Given the description of an element on the screen output the (x, y) to click on. 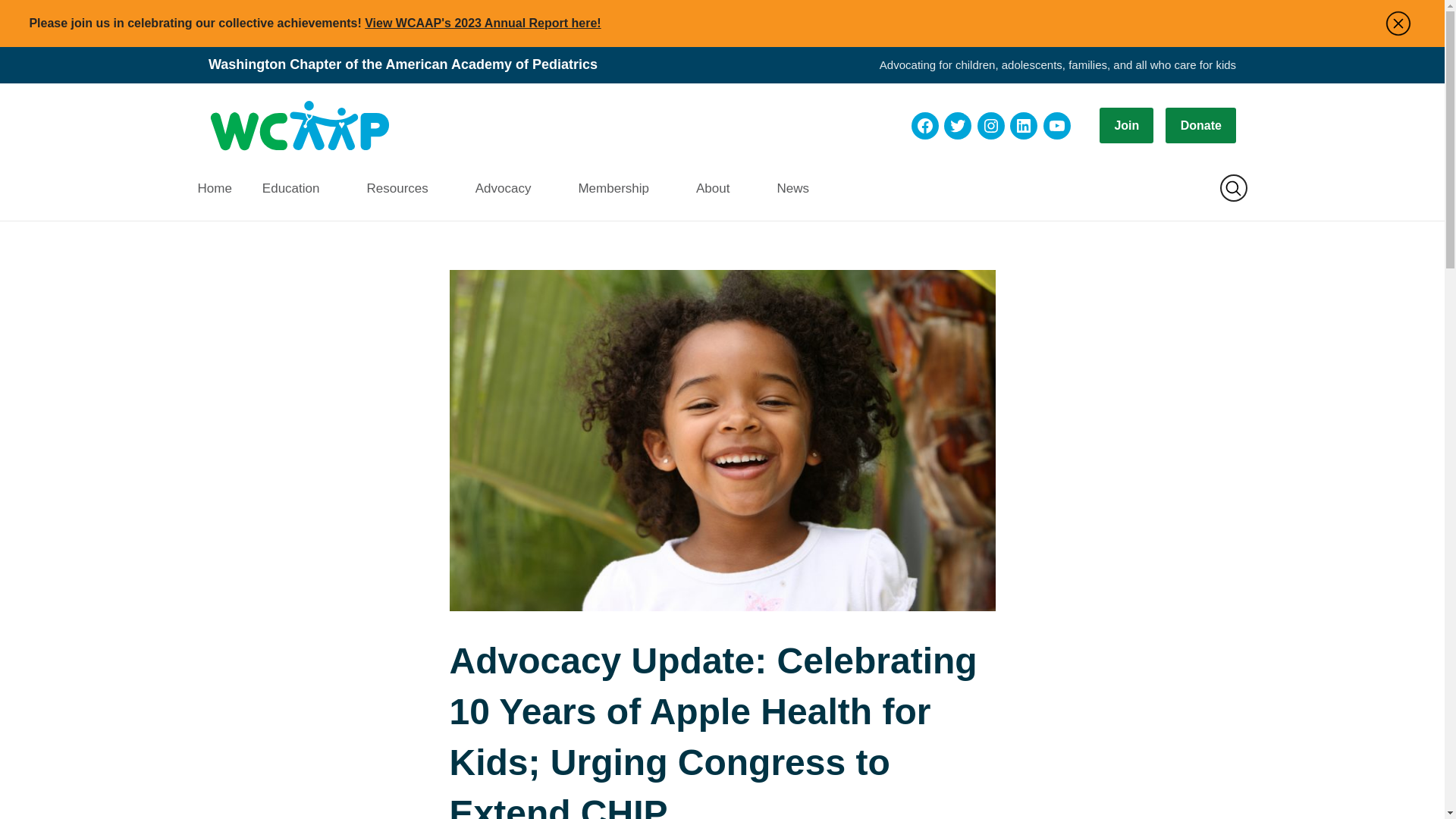
Home (221, 188)
Close Banner Message (1397, 22)
Donate (1201, 125)
Join (1126, 125)
Education (299, 188)
Advocacy (511, 188)
View WCAAP's 2023 Annual Report here! (482, 22)
Membership (621, 188)
Resources (405, 188)
WCAAP Home (299, 125)
